Given the description of an element on the screen output the (x, y) to click on. 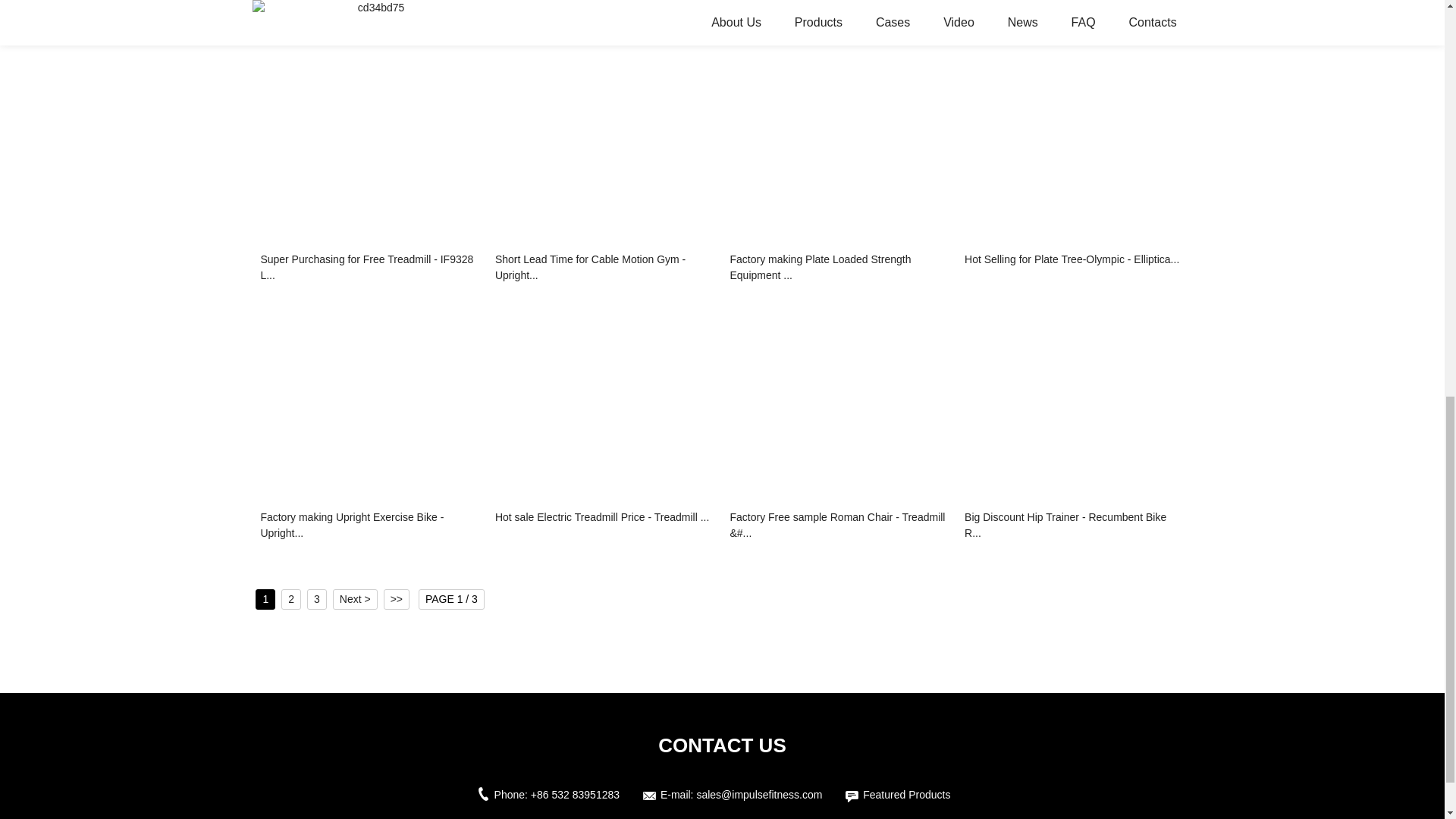
The Last Page (396, 598)
